Given the description of an element on the screen output the (x, y) to click on. 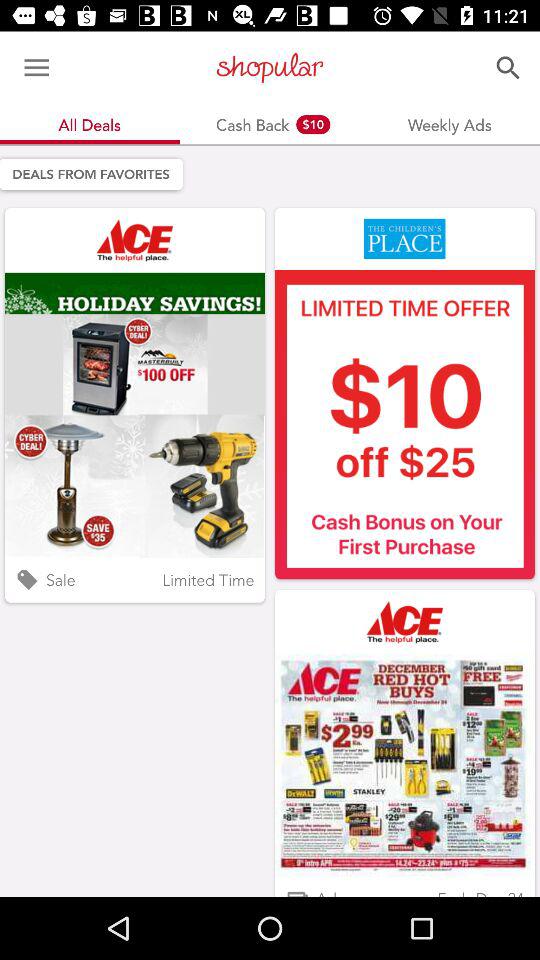
open icon next to cash back icon (36, 68)
